Given the description of an element on the screen output the (x, y) to click on. 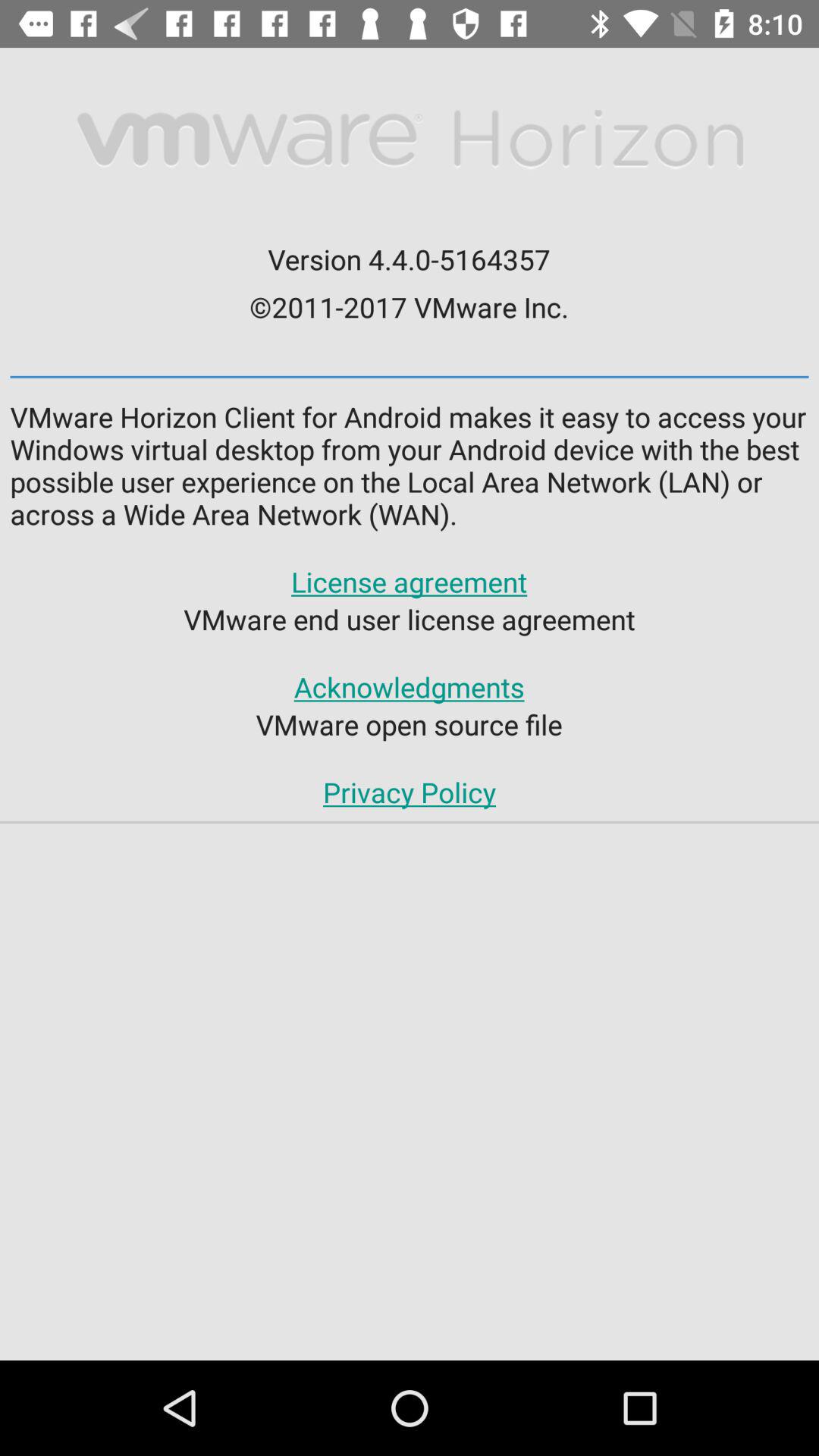
turn on icon below vmware open source (409, 792)
